Given the description of an element on the screen output the (x, y) to click on. 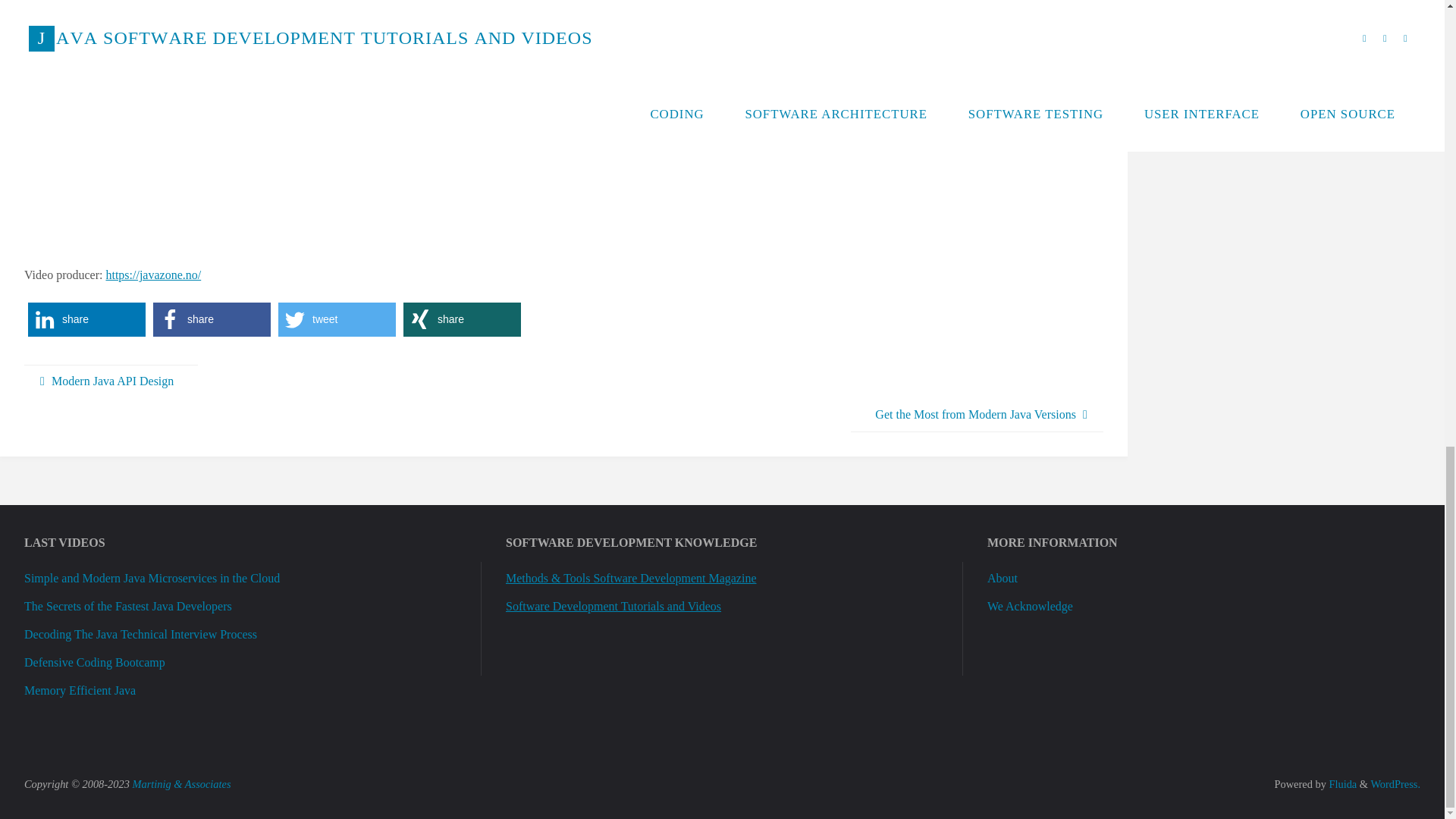
share  (211, 319)
Modern Java API Design (111, 381)
Share on Twitter (337, 319)
Get the Most from Modern Java Versions (976, 415)
tweet  (337, 319)
Share on LinkedIn (86, 319)
share  (86, 319)
Share on Facebook (211, 319)
share  (462, 319)
